Given the description of an element on the screen output the (x, y) to click on. 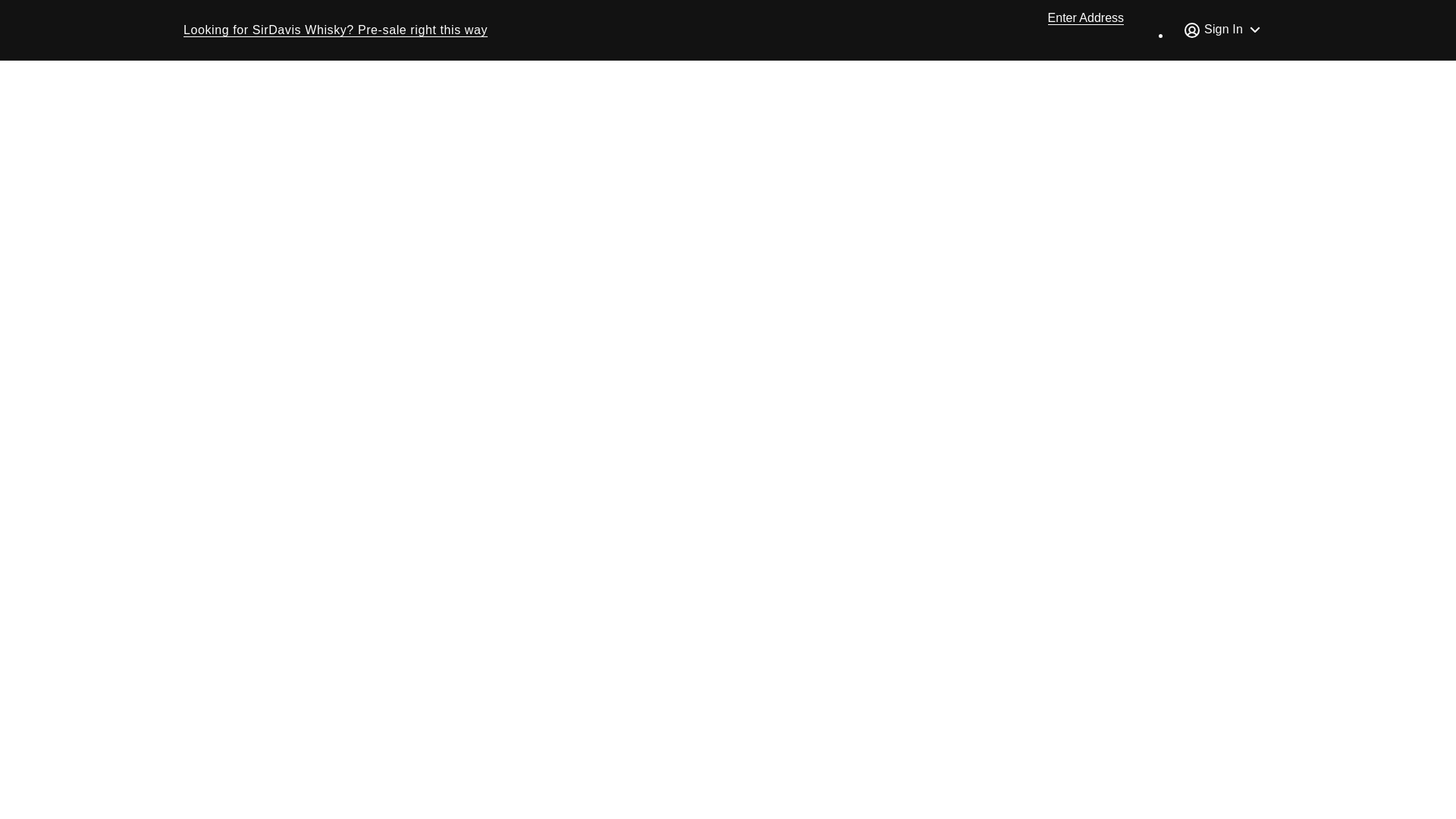
Looking for SirDavis Whisky? Pre-sale right this way (335, 29)
Skip to content (46, 18)
Enter Address (1075, 18)
